Given the description of an element on the screen output the (x, y) to click on. 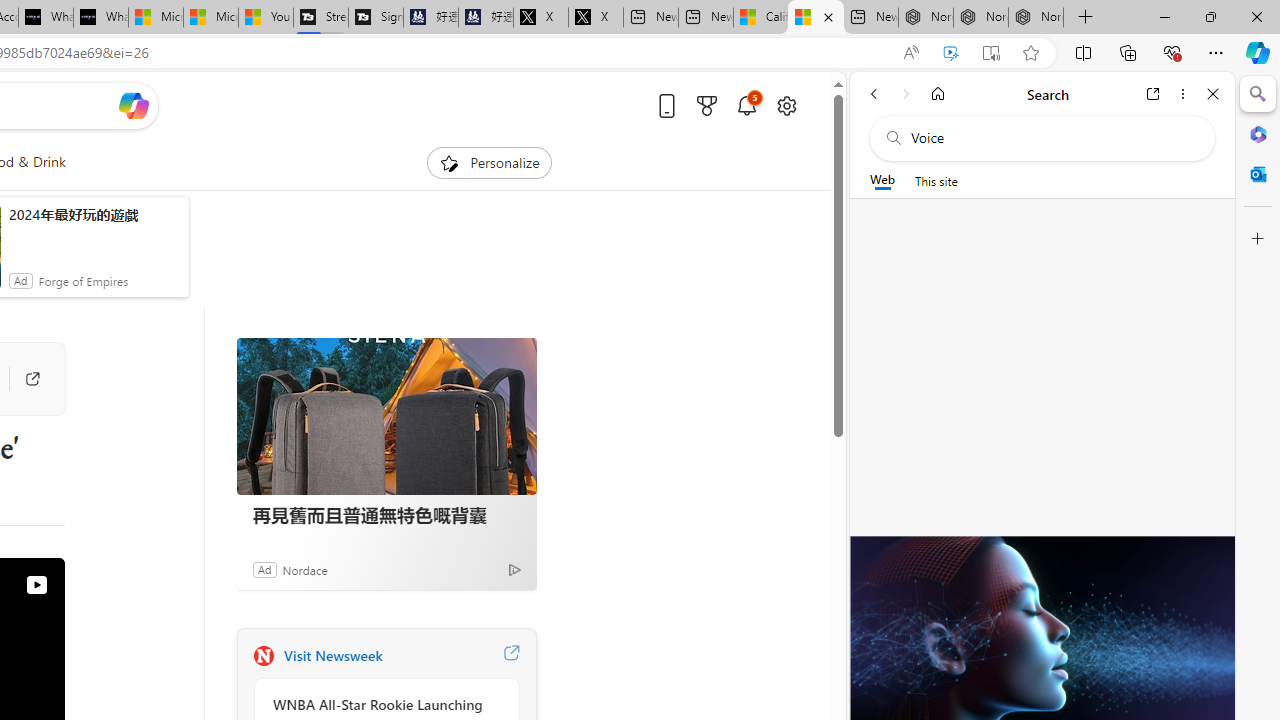
Close (1213, 93)
Visit Newsweek website (511, 655)
Read aloud this page (Ctrl+Shift+U) (910, 53)
Search the web (1051, 137)
Open Copilot (132, 105)
Streaming Coverage | T3 (321, 17)
Split screen (1083, 52)
Home (938, 93)
More options (1182, 93)
Minimize (1164, 16)
Enhance video (950, 53)
Close tab (828, 16)
Collections (1128, 52)
View on Watch (36, 585)
